Given the description of an element on the screen output the (x, y) to click on. 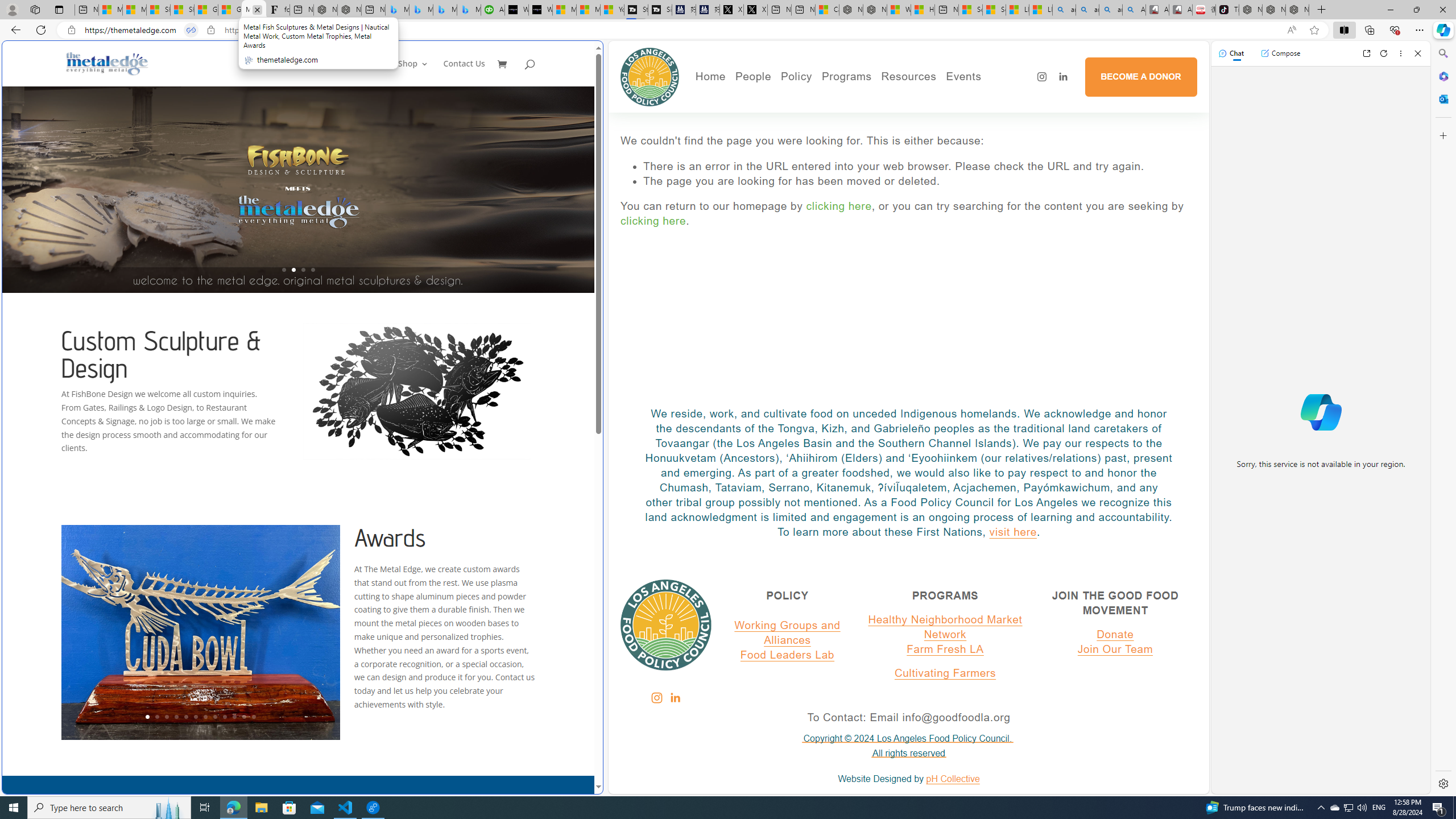
Farm Fresh LA (945, 648)
App bar (728, 29)
Personal Profile (12, 9)
Close (1417, 53)
Metal Fish Sculptures & Metal Designs (106, 63)
Nordace - Best Sellers (1250, 9)
Food Rescue Macro Grants (951, 130)
Side bar (1443, 418)
Press (791, 130)
Healthy Markets LA (878, 98)
3 (166, 716)
12 (253, 716)
11 (243, 716)
The page you are looking for has been moved or deleted. (919, 181)
Microsoft Start (588, 9)
